Given the description of an element on the screen output the (x, y) to click on. 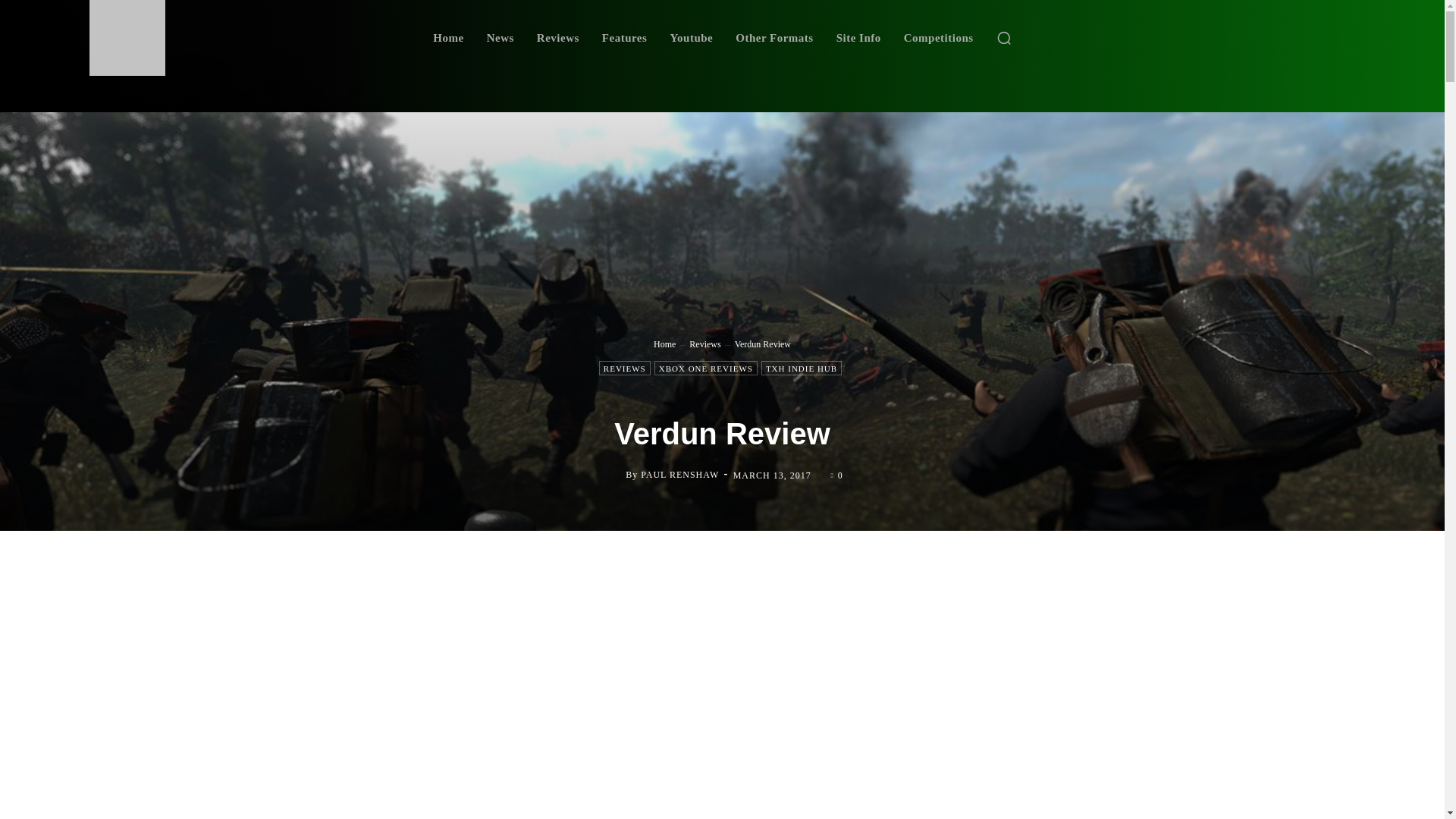
Paul Renshaw (613, 474)
View all posts in Reviews (704, 343)
